Given the description of an element on the screen output the (x, y) to click on. 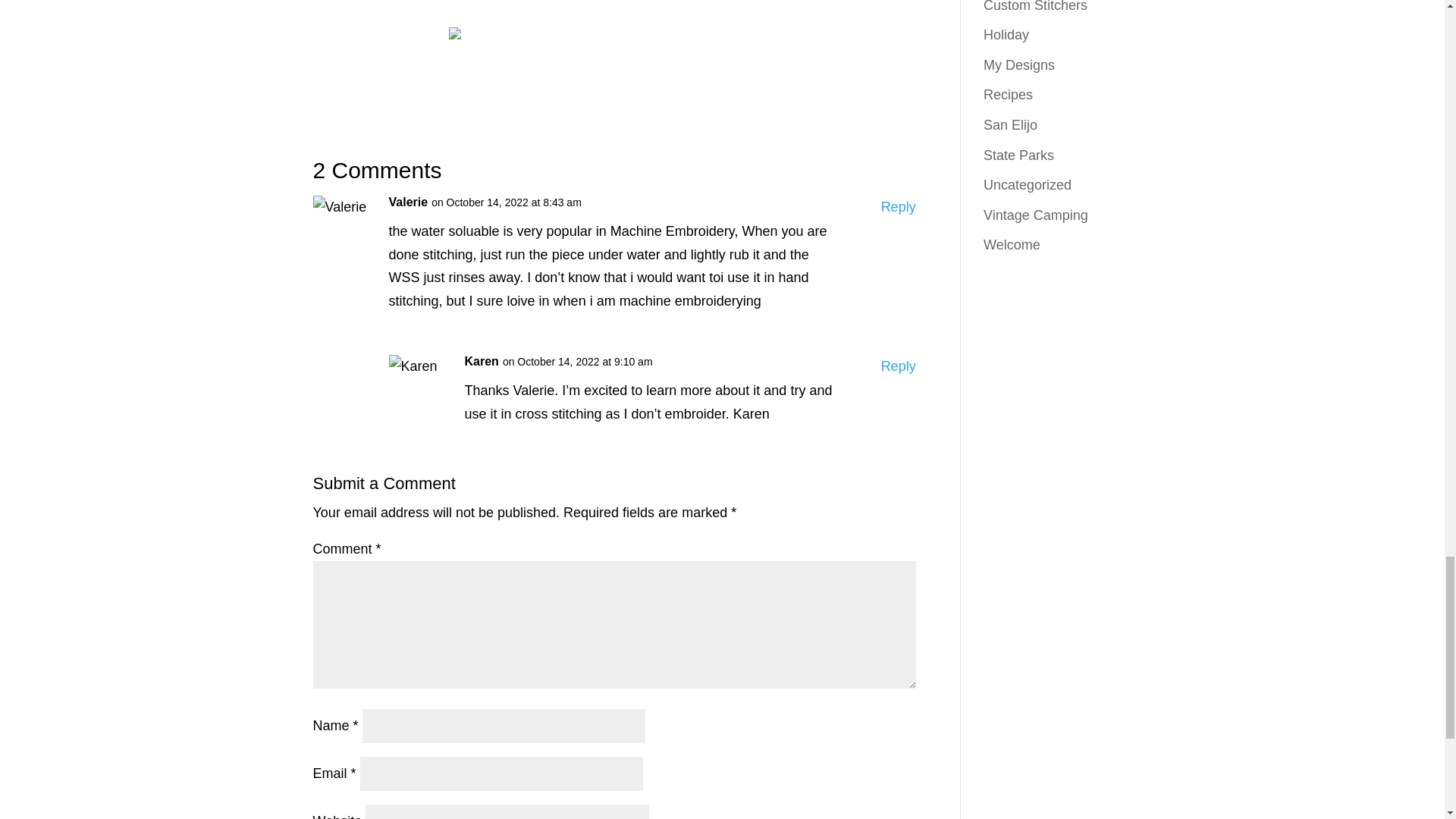
Reply (897, 366)
Karen (480, 361)
Reply (897, 207)
